Given the description of an element on the screen output the (x, y) to click on. 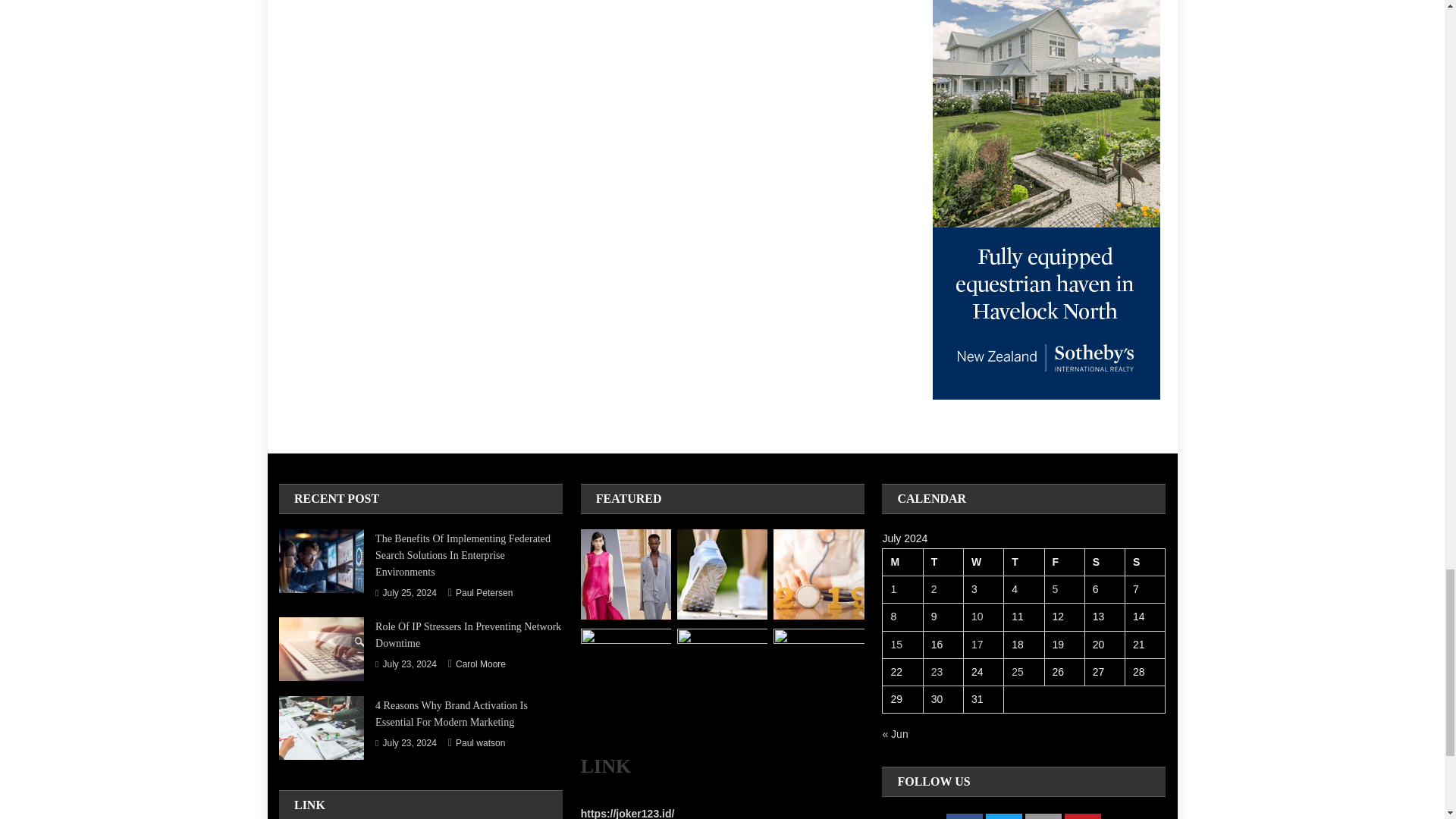
Sunday (1145, 562)
Wednesday (982, 562)
Facebook (964, 816)
Tuesday (942, 562)
Twitter (1003, 816)
Monday (902, 562)
Thursday (1023, 562)
Pinterest (1082, 816)
LinkedIn (1043, 816)
Friday (1063, 562)
Saturday (1104, 562)
